Given the description of an element on the screen output the (x, y) to click on. 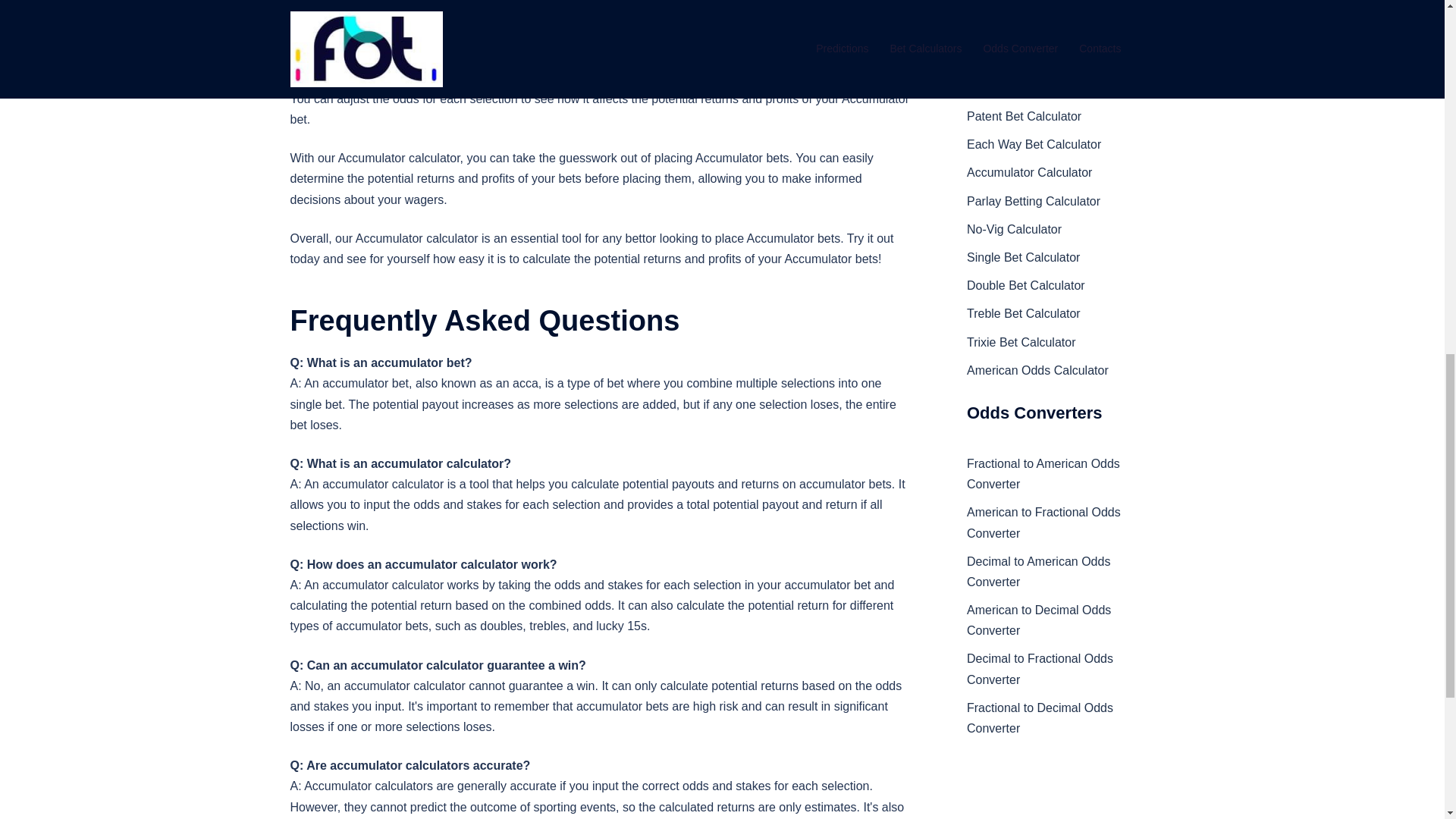
Double Bet Calculator (1025, 285)
Accumulator Calculator (1029, 172)
Patent Bet Calculator (1023, 115)
Single Bet Calculator (1023, 256)
Each Way Bet Calculator (1033, 144)
Arbitrage Betting Calculator (1040, 60)
Decimal to American Odds Converter (1037, 571)
American to Fractional Odds Converter (1043, 522)
Matched Betting Calculator (1039, 88)
Trixie Bet Calculator (1020, 341)
Parlay Betting Calculator (1033, 201)
Treble Bet Calculator (1023, 313)
American Odds Calculator (1037, 369)
Fractional to American Odds Converter (1042, 473)
No-Vig Calculator (1013, 228)
